Given the description of an element on the screen output the (x, y) to click on. 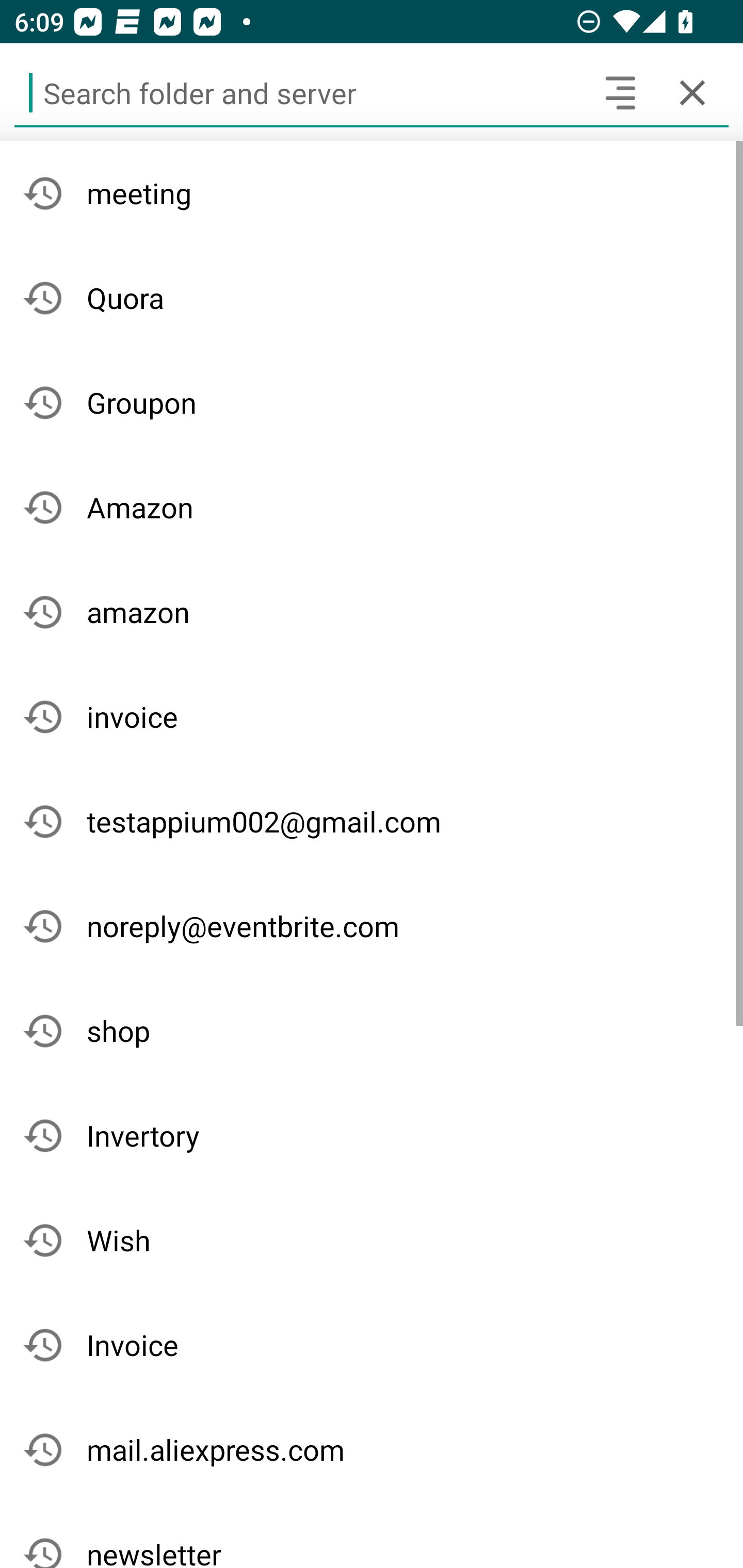
   Search folder and server (298, 92)
Search headers and text (619, 92)
Cancel (692, 92)
